Given the description of an element on the screen output the (x, y) to click on. 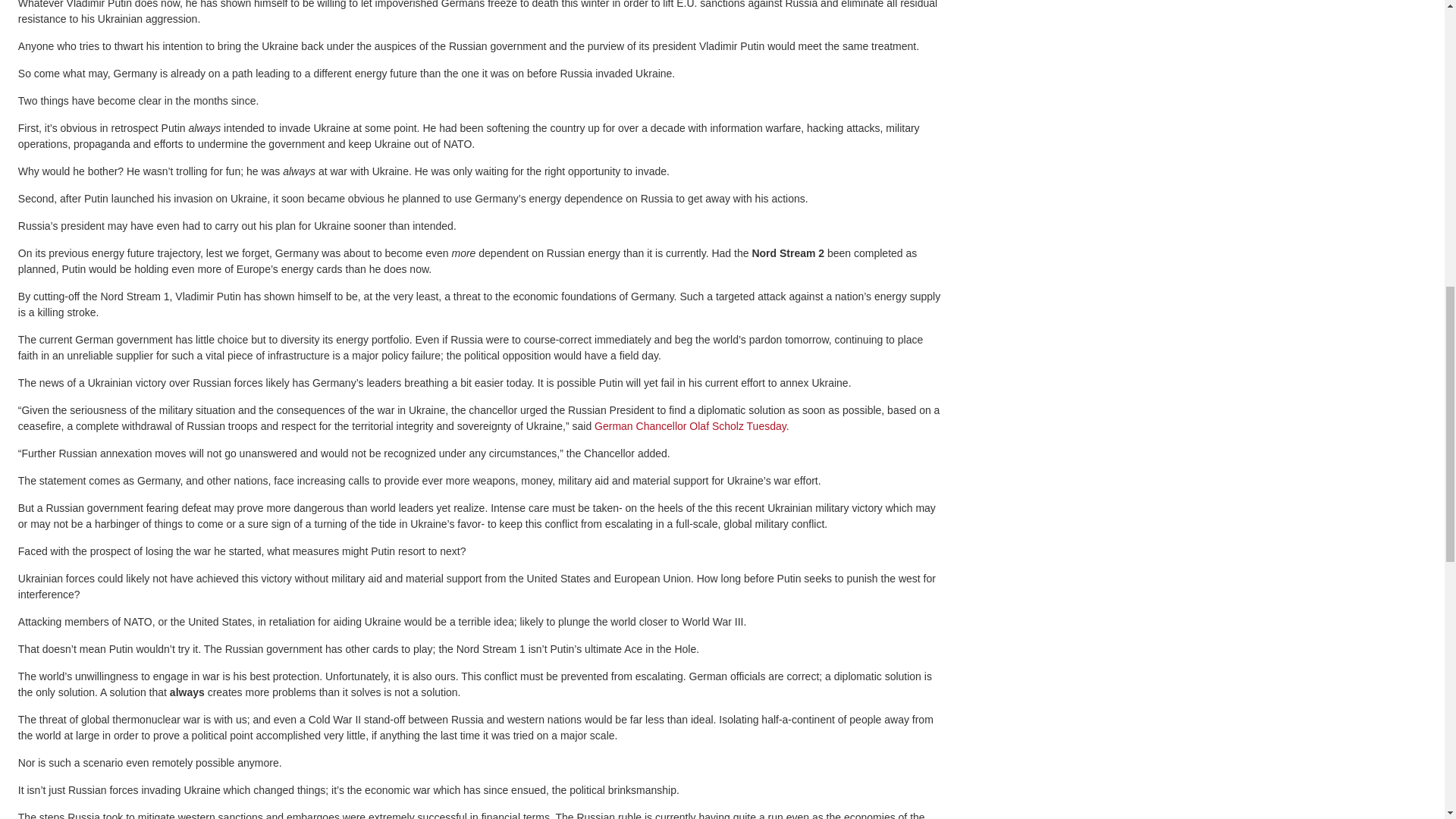
German Chancellor Olaf Scholz Tuesday. (691, 426)
